Given the description of an element on the screen output the (x, y) to click on. 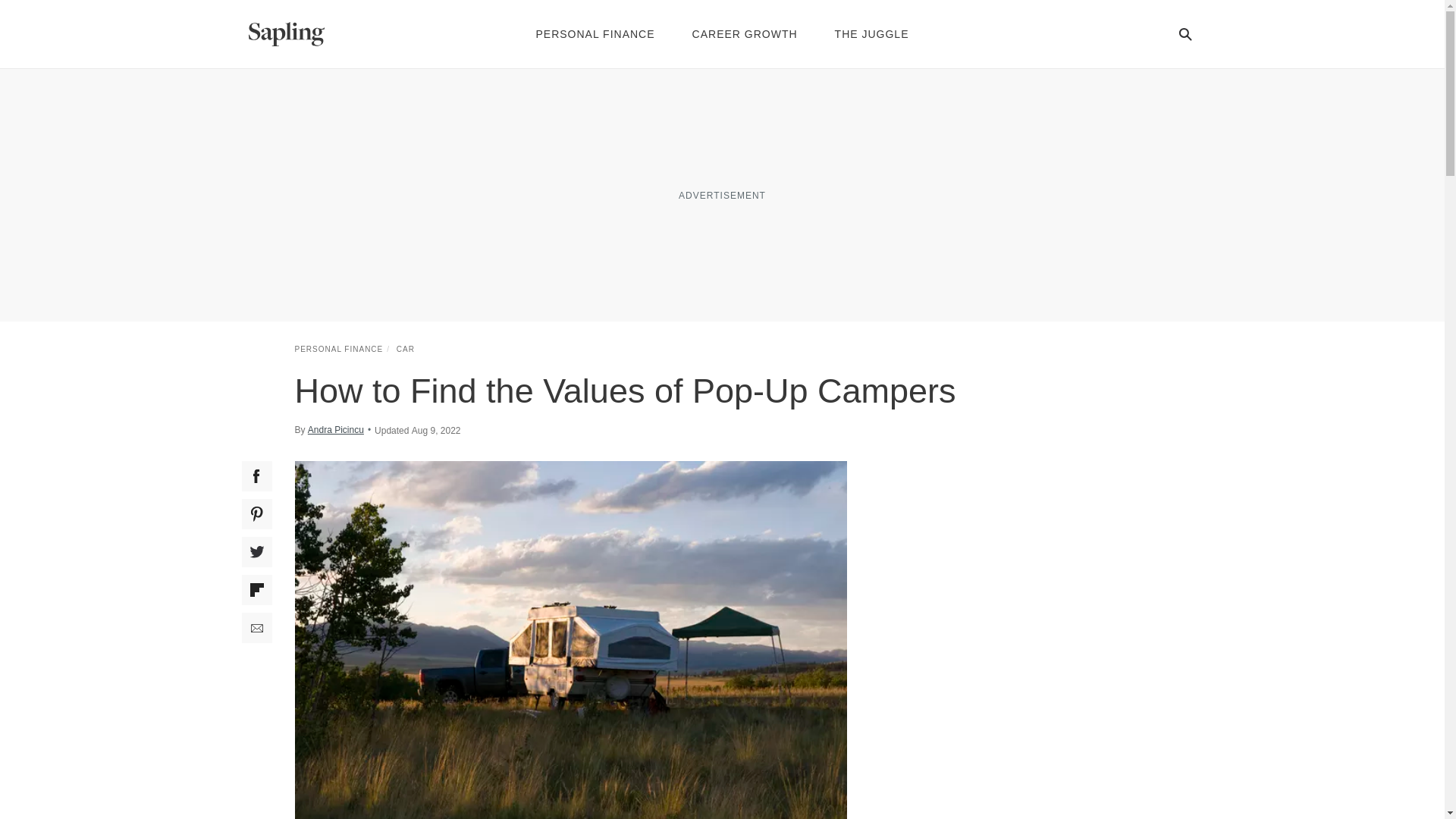
CAR (405, 348)
3rd party ad content (721, 194)
3rd party ad content (1035, 555)
PERSONAL FINANCE (338, 348)
Andra Picincu (335, 429)
